Given the description of an element on the screen output the (x, y) to click on. 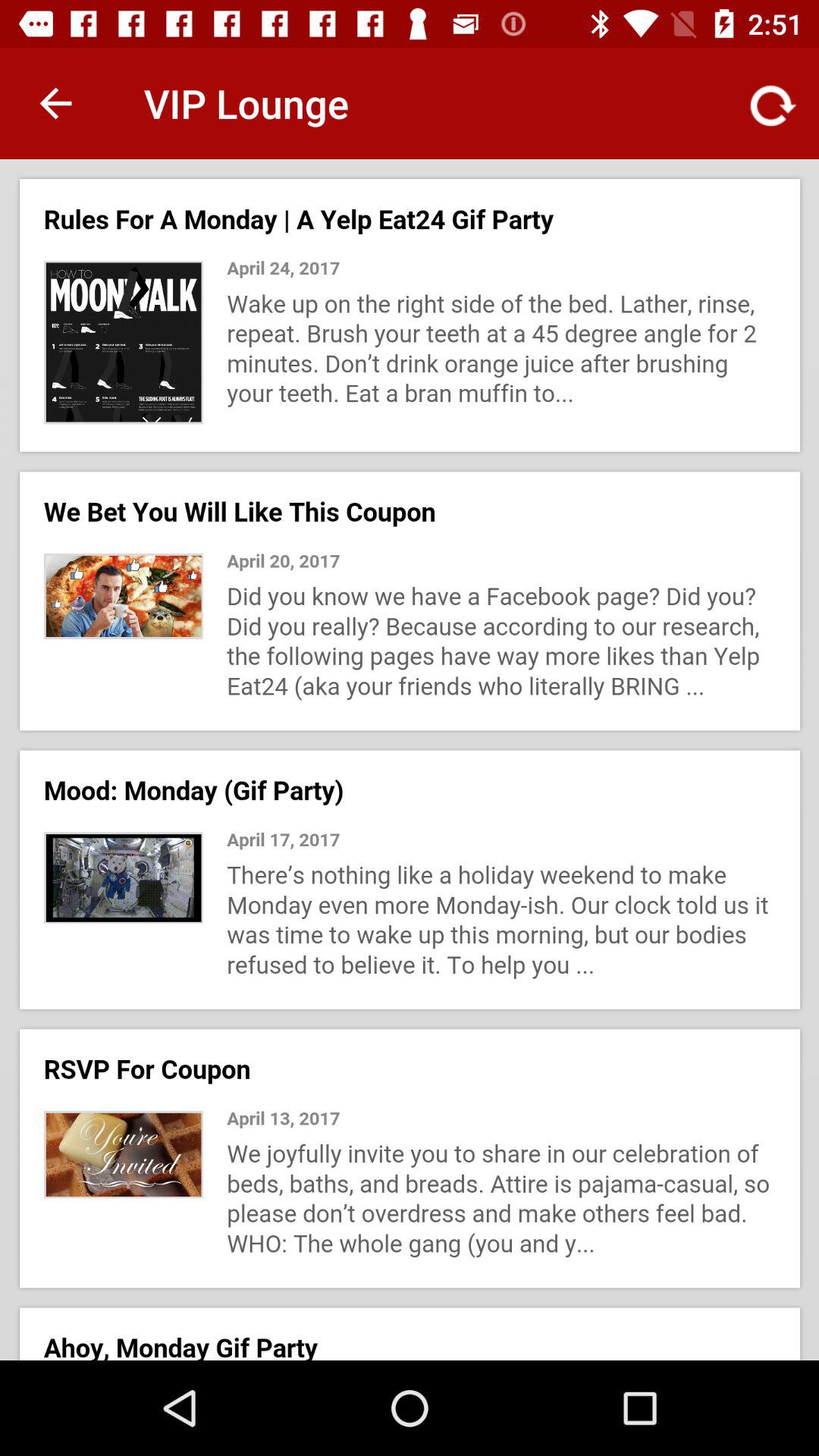
view article (409, 759)
